Given the description of an element on the screen output the (x, y) to click on. 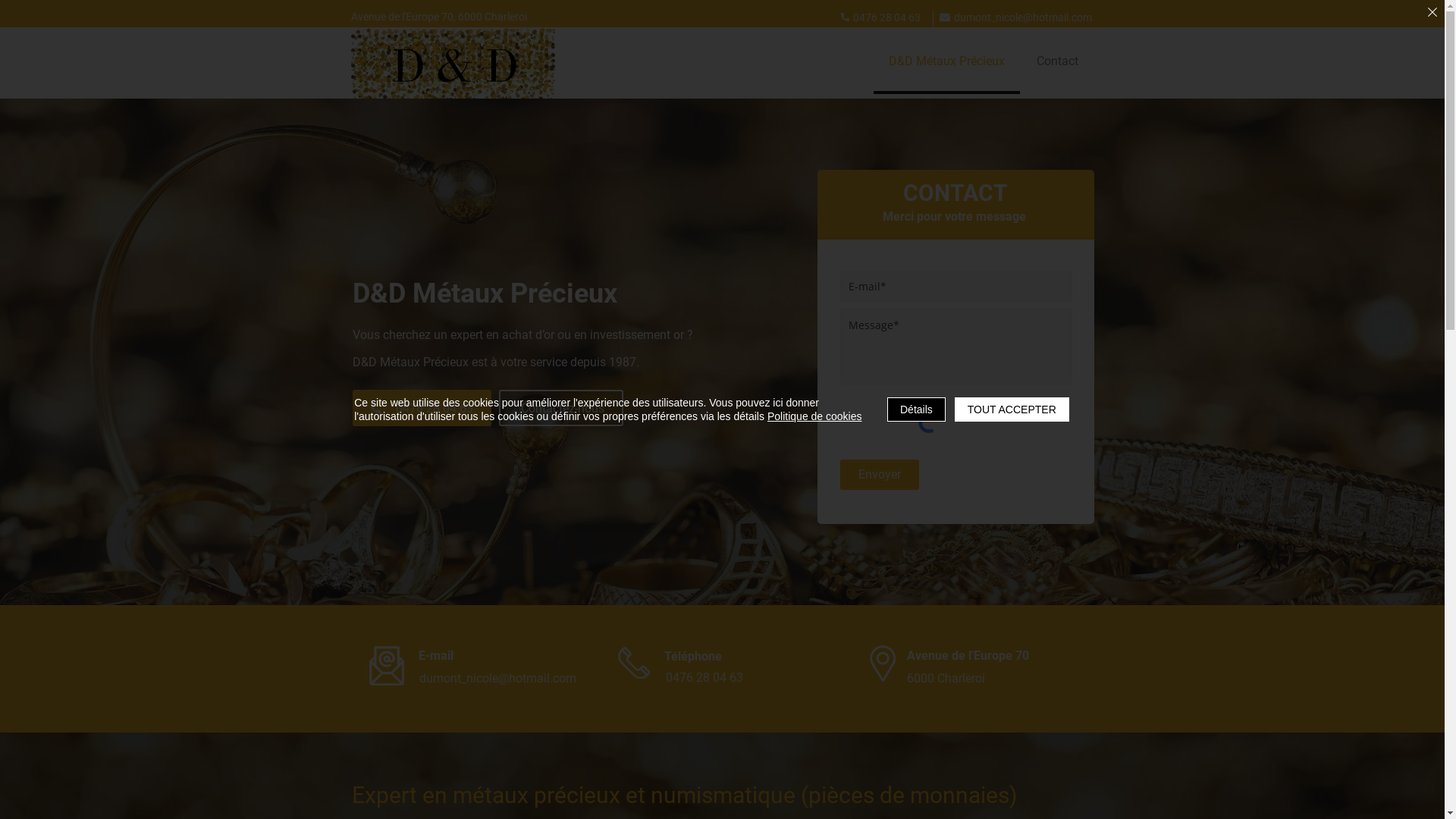
Politique de cookies Element type: text (814, 416)
Contact Element type: text (1057, 62)
0476 28 04 63 Element type: text (881, 16)
Contactez-nous Element type: text (560, 407)
dumont_nicole@hotmail.com Element type: text (497, 677)
TOUT ACCEPTER Element type: text (1011, 409)
0476 28 04 63 Element type: text (420, 407)
Envoyer Element type: text (879, 474)
dumont_nicole@hotmail.com Element type: text (1016, 16)
0476 28 04 63 Element type: text (744, 677)
